Given the description of an element on the screen output the (x, y) to click on. 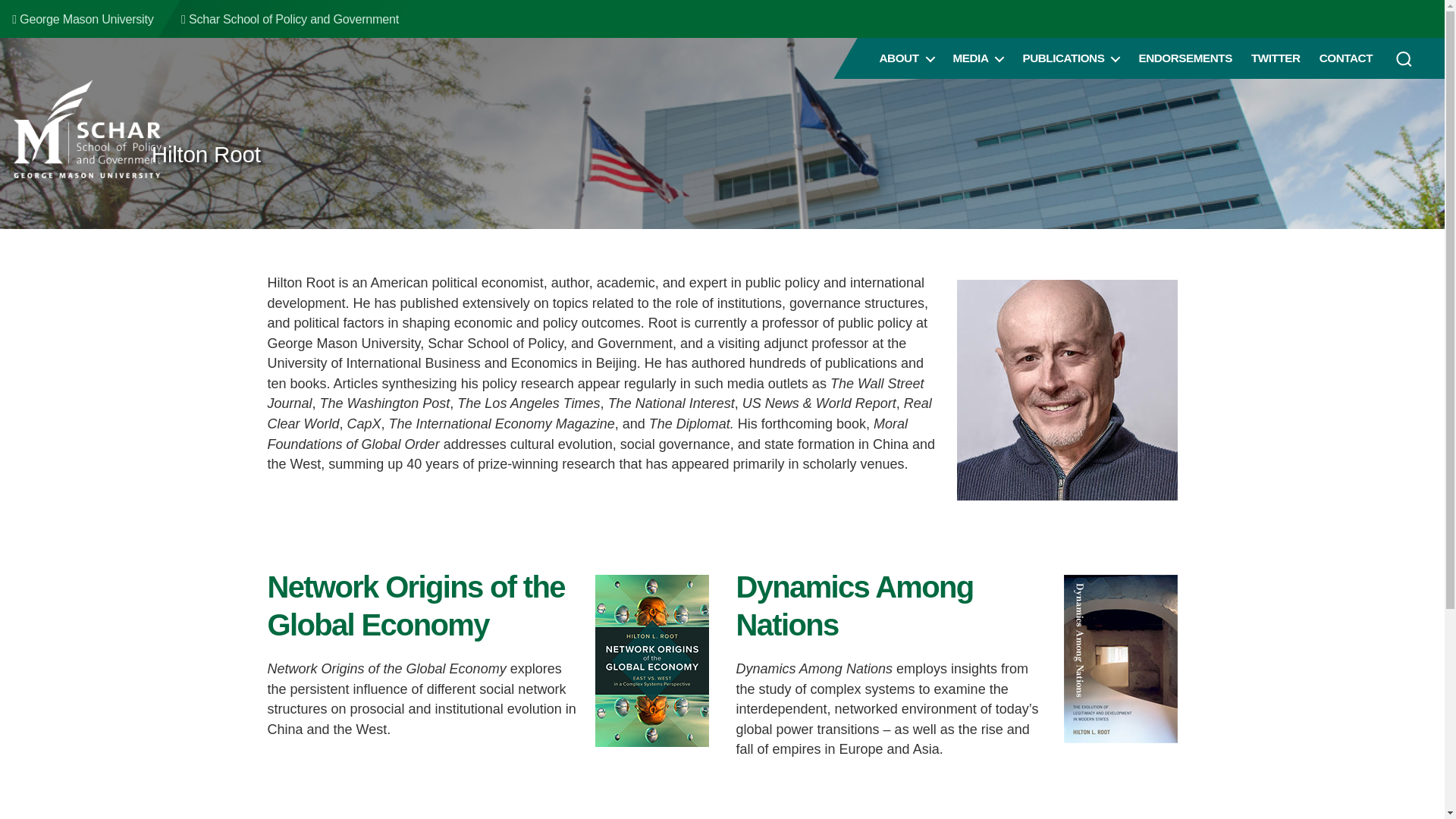
ENDORSEMENTS (1184, 58)
Hilton Root (205, 154)
TWITTER (1275, 58)
MEDIA (978, 58)
George Mason University (81, 18)
CONTACT (1346, 58)
ABOUT (906, 58)
PUBLICATIONS (1070, 58)
Schar School of Policy and Government (289, 18)
